Given the description of an element on the screen output the (x, y) to click on. 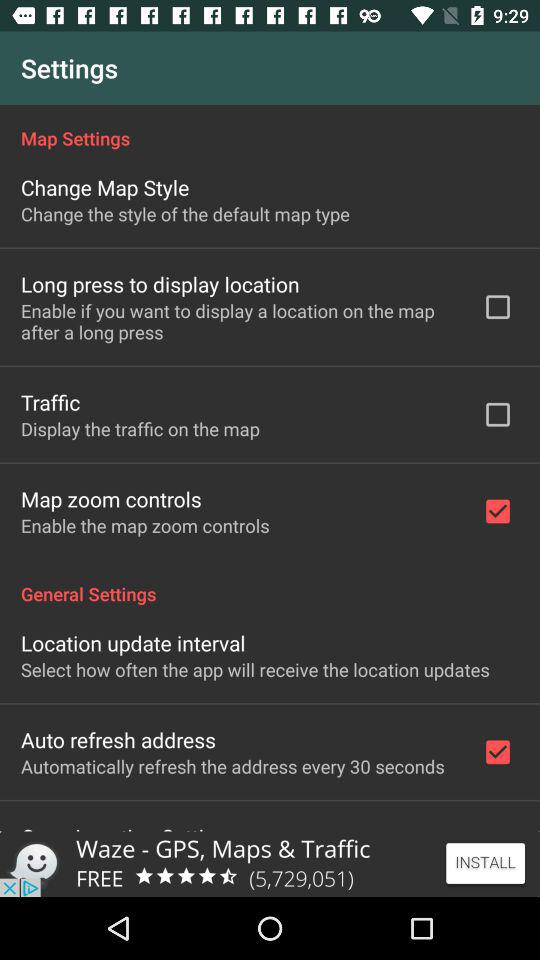
install this app (270, 864)
